Given the description of an element on the screen output the (x, y) to click on. 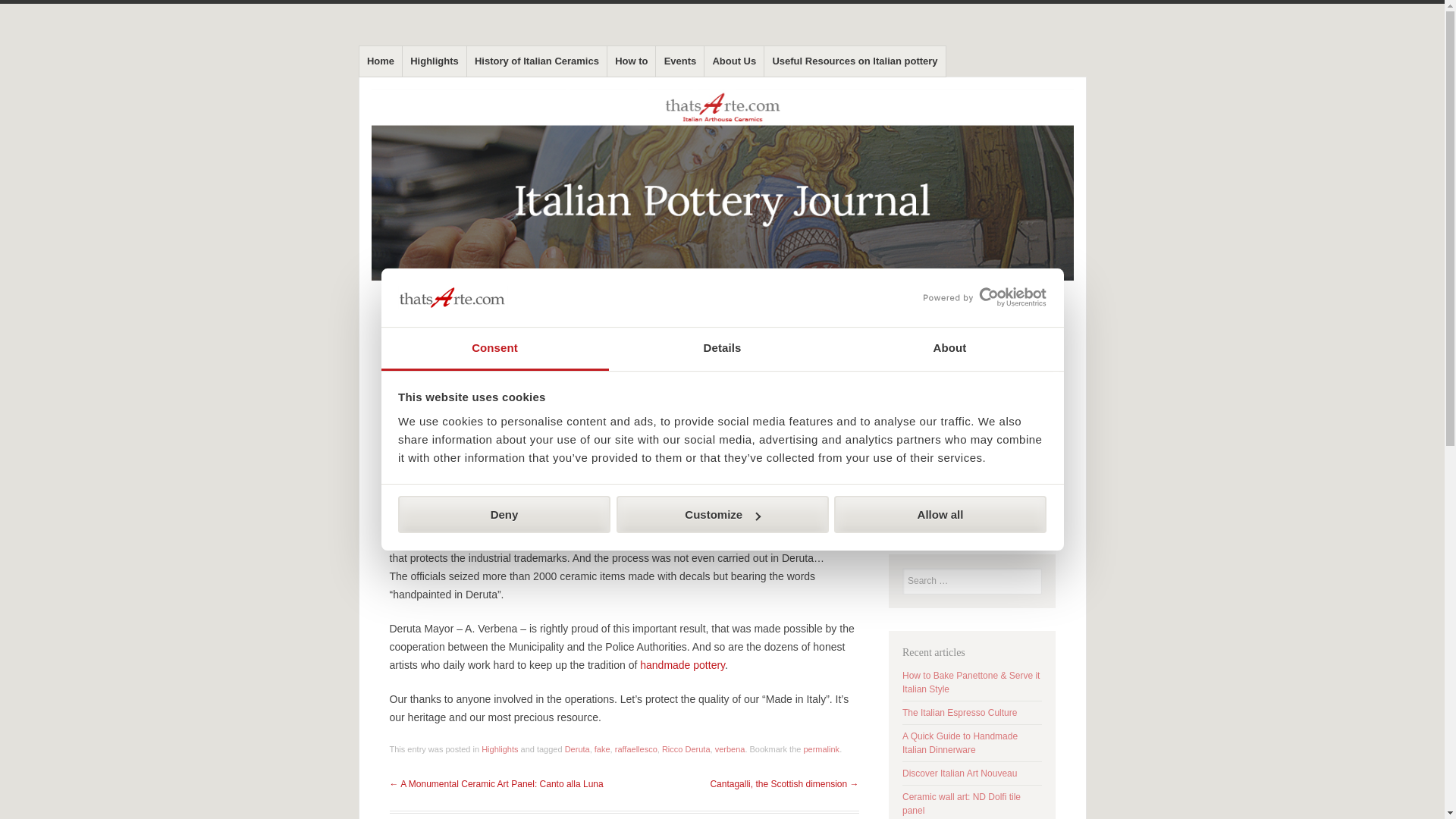
thatsArte.com (437, 60)
Details (721, 349)
Consent (494, 349)
About (948, 349)
Skip to content (398, 49)
